Given the description of an element on the screen output the (x, y) to click on. 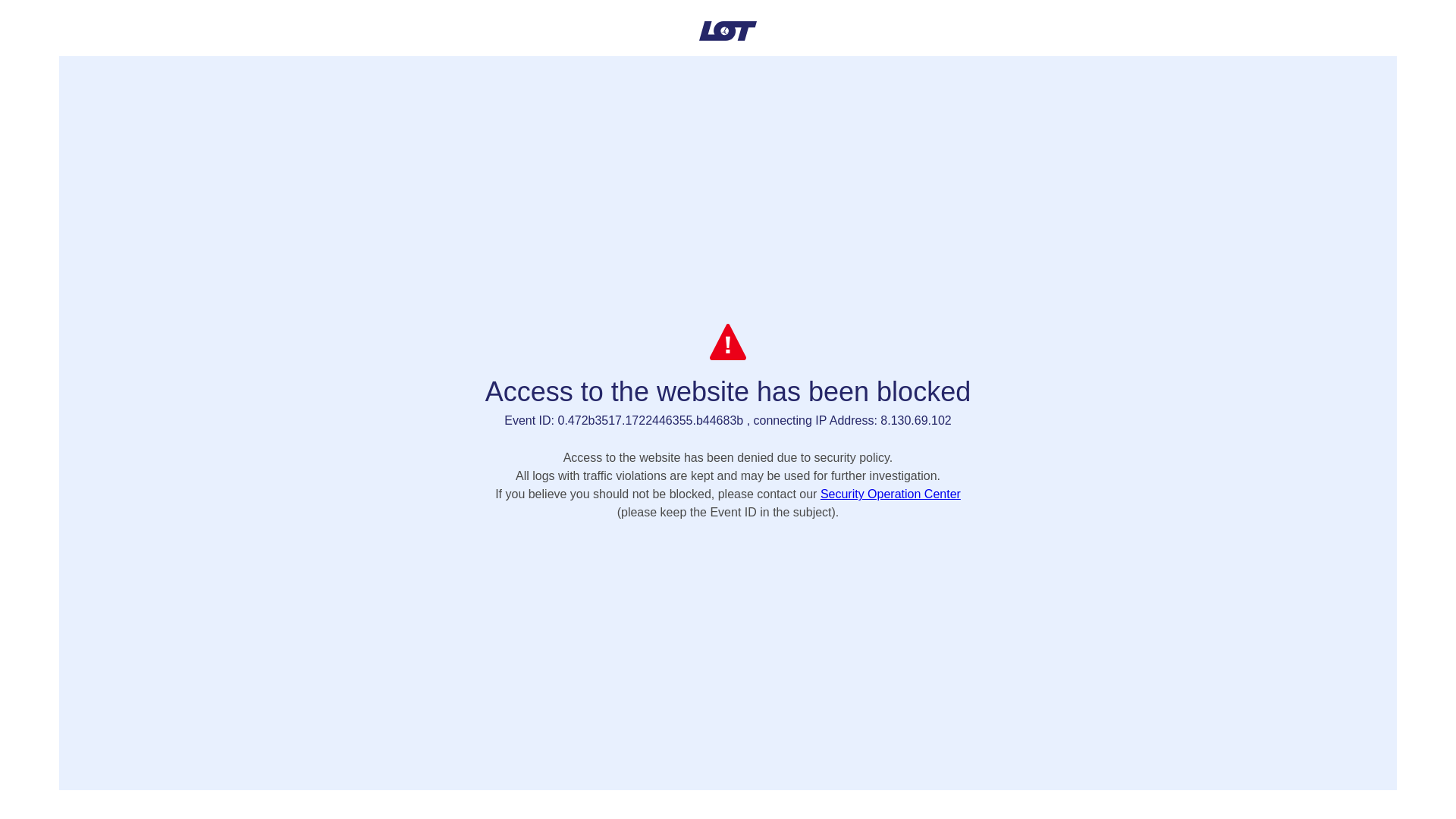
Security Operation Center (890, 493)
